Given the description of an element on the screen output the (x, y) to click on. 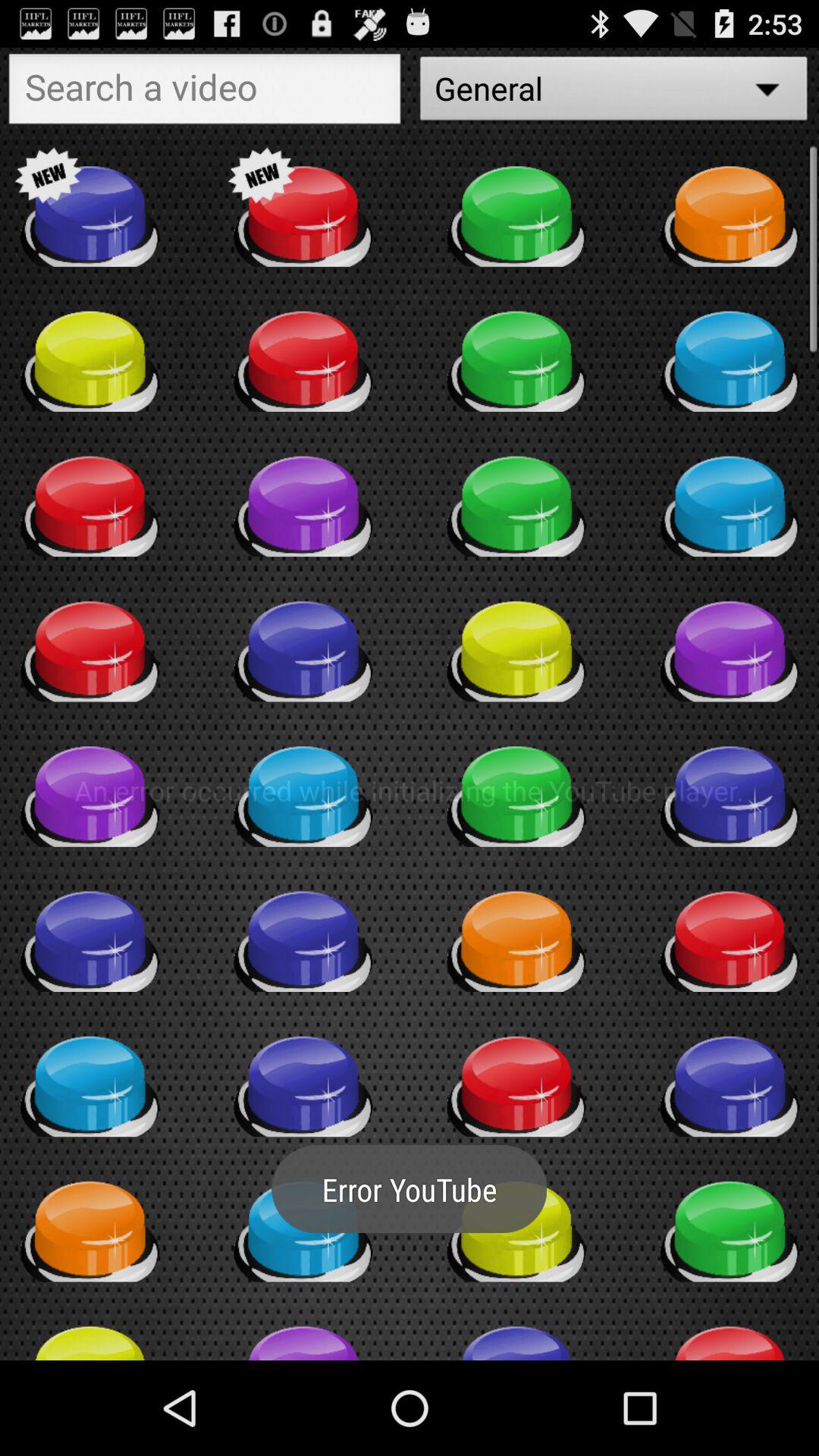
what to search (204, 92)
